Given the description of an element on the screen output the (x, y) to click on. 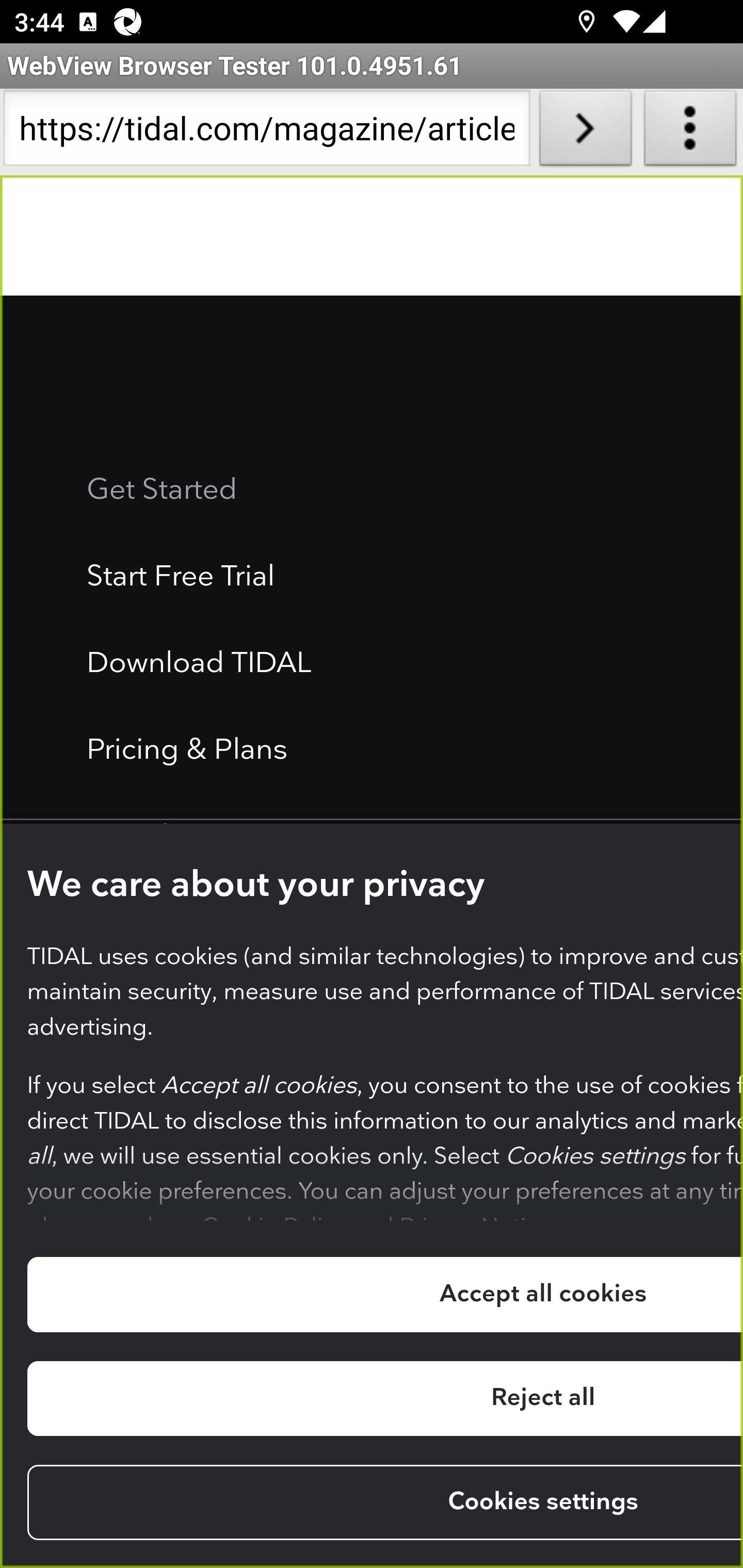
Load URL (585, 132)
About WebView (690, 132)
Start Free Trial (181, 578)
Download TIDAL (199, 665)
Pricing & Plans (187, 751)
Accept all cookies (384, 1294)
Reject all (384, 1400)
Cookies settings (384, 1503)
